Given the description of an element on the screen output the (x, y) to click on. 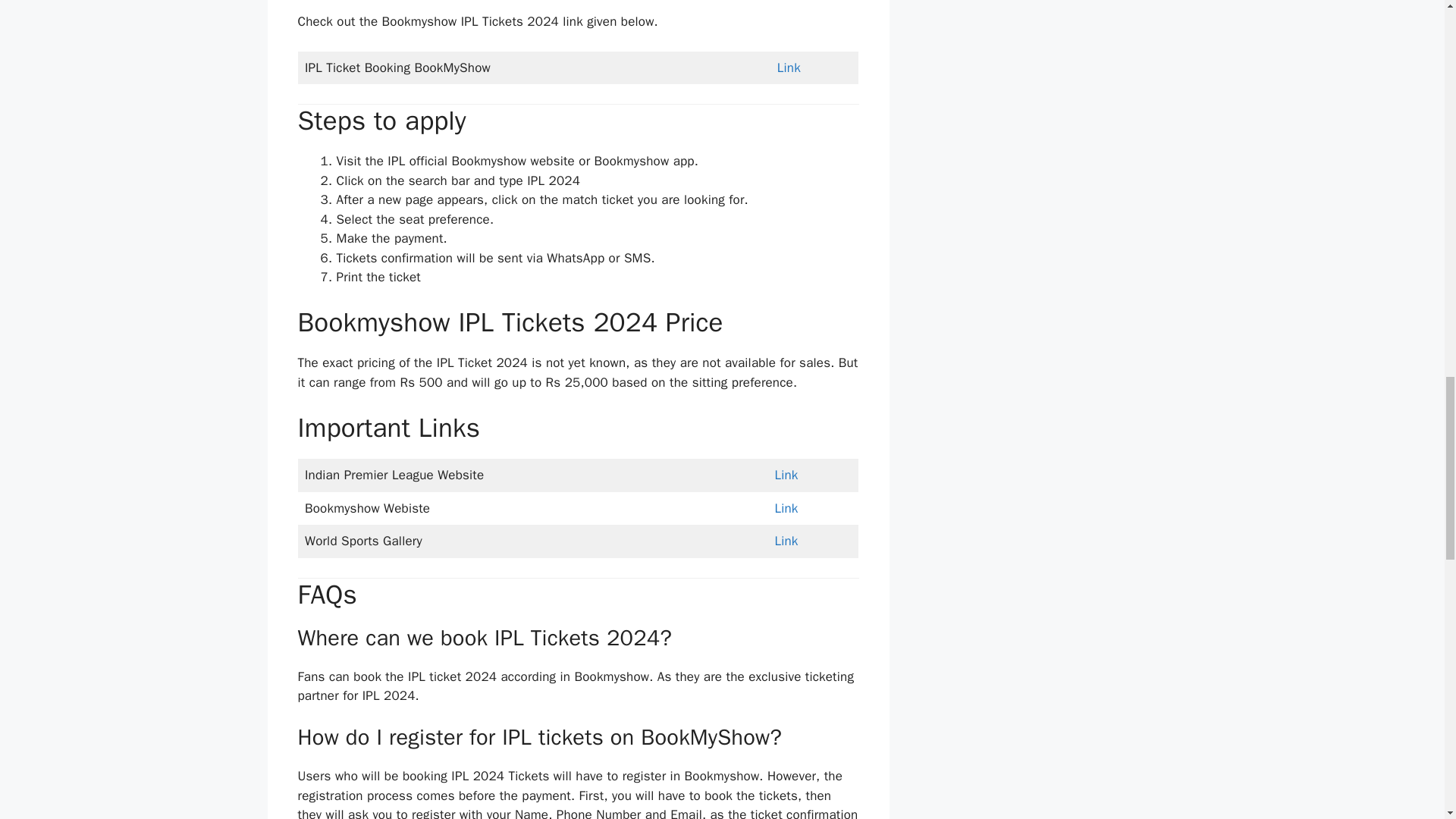
Link (788, 67)
Link (785, 540)
Link (785, 474)
Link (785, 508)
